Given the description of an element on the screen output the (x, y) to click on. 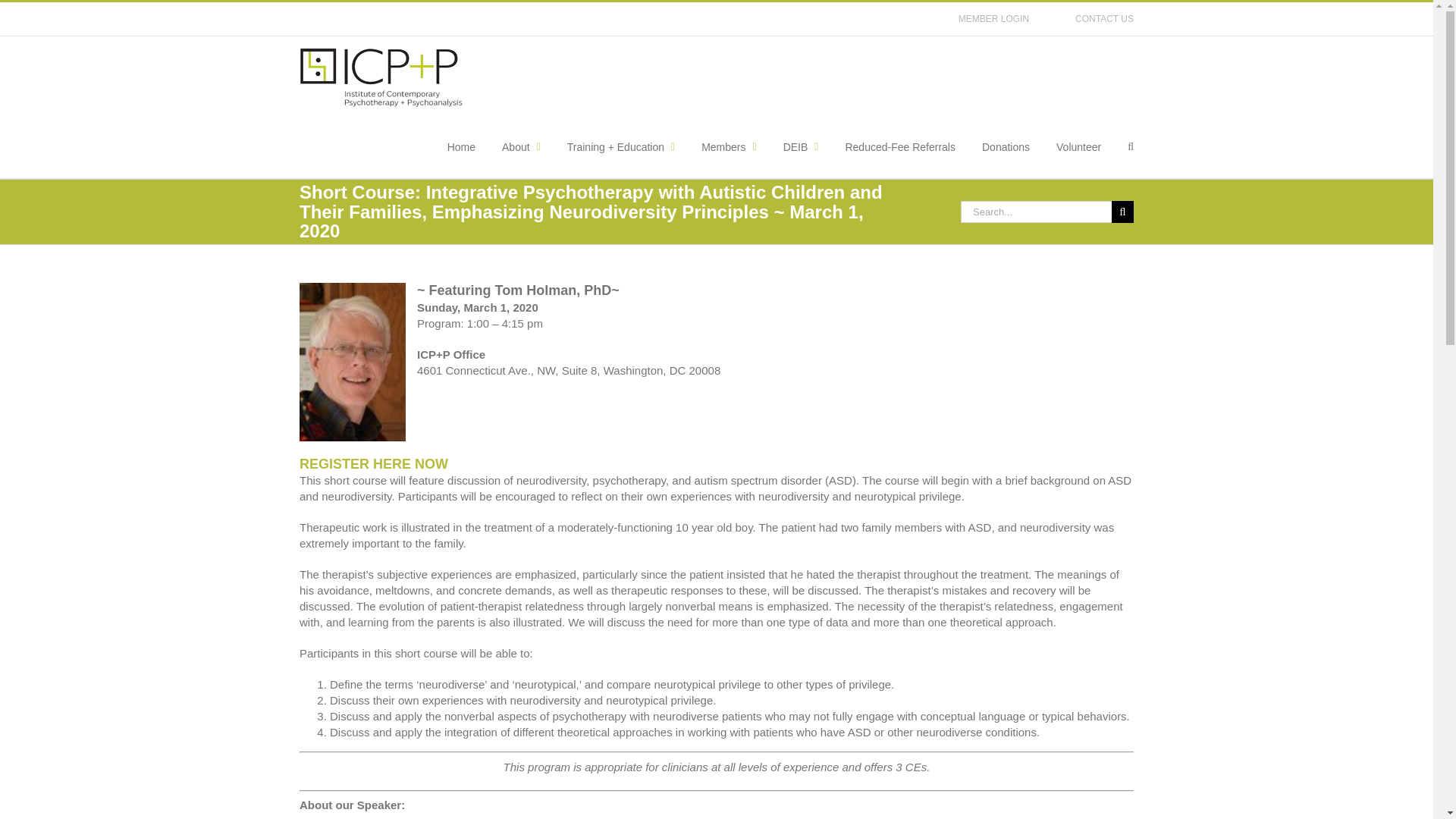
CONTACT US (1104, 19)
Reduced-Fee Referrals (899, 146)
MEMBER LOGIN (993, 19)
